Given the description of an element on the screen output the (x, y) to click on. 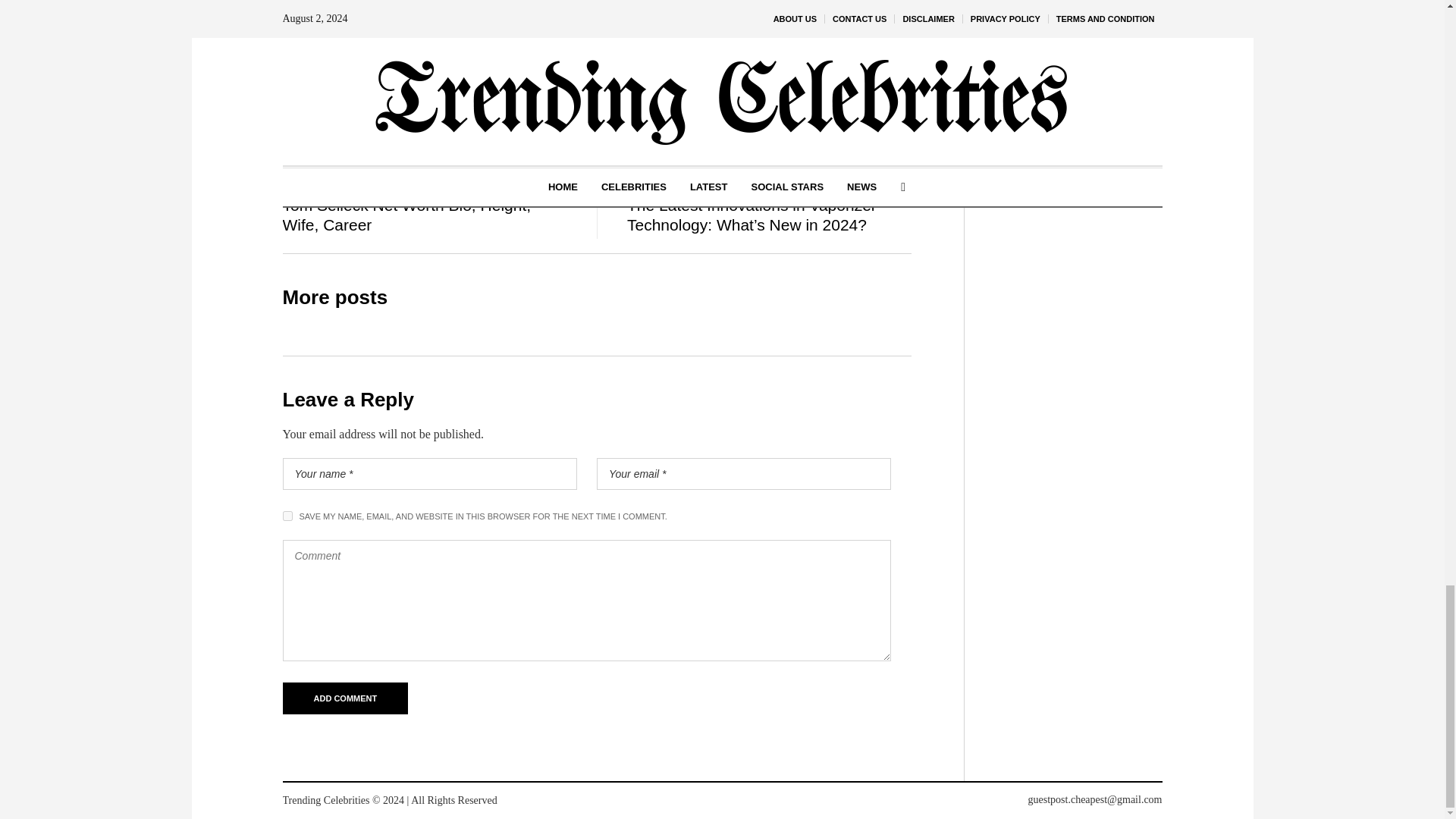
Tom Selleck Net Worth Bio, Height, Wife, Career (406, 215)
Add Comment (344, 698)
Celebrity Elopements in Vegas (538, 103)
memorable wedding (780, 10)
yes (287, 515)
Add Comment (344, 698)
